Given the description of an element on the screen output the (x, y) to click on. 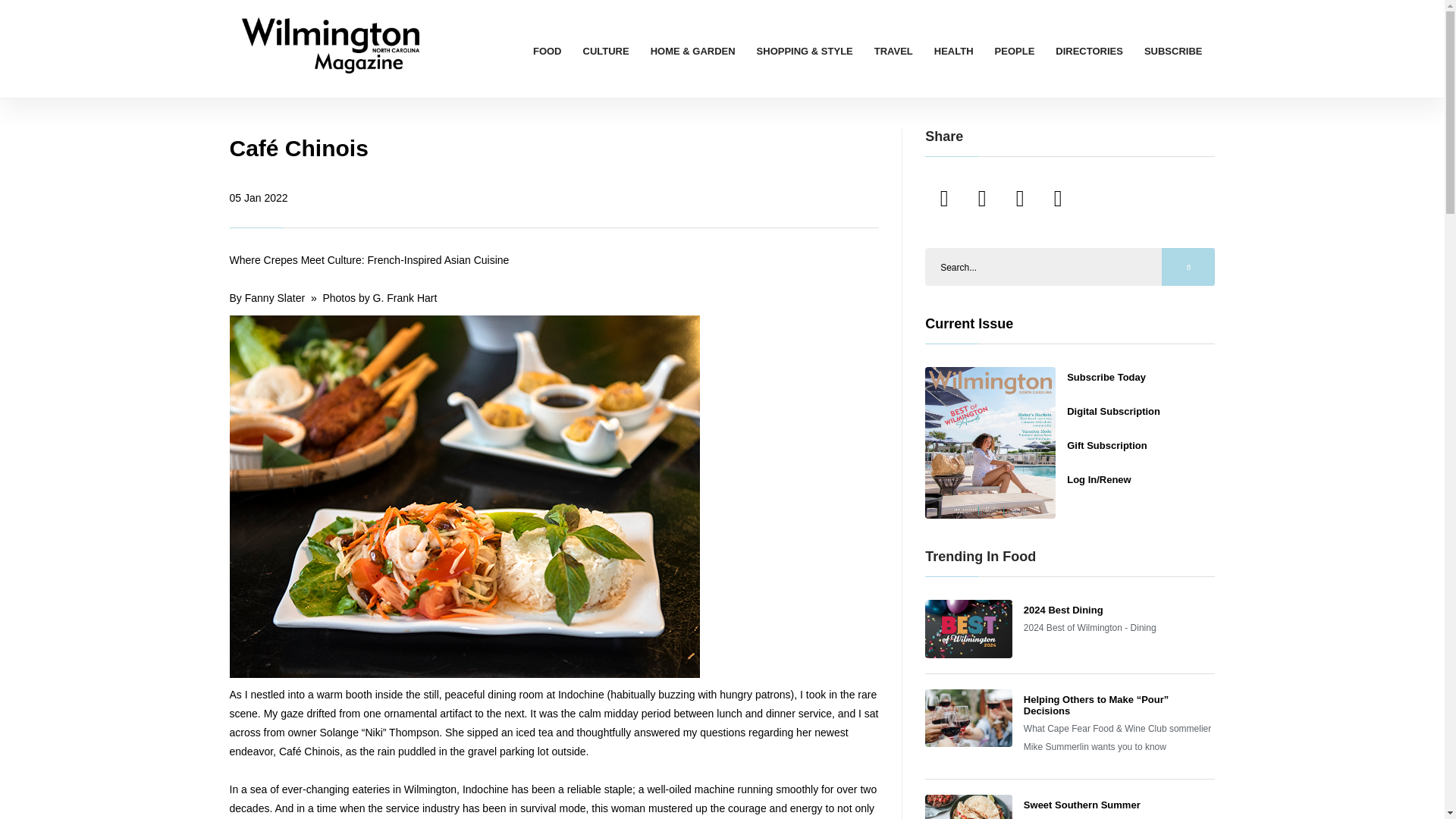
CULTURE (606, 50)
Current Issue (968, 323)
DIRECTORIES (1088, 50)
Subscribe Today (1106, 377)
Gift Subscription (1107, 445)
SUBSCRIBE (1173, 50)
TRAVEL (893, 50)
Digital Subscription (1113, 410)
HEALTH (953, 50)
FOOD (547, 50)
